Given the description of an element on the screen output the (x, y) to click on. 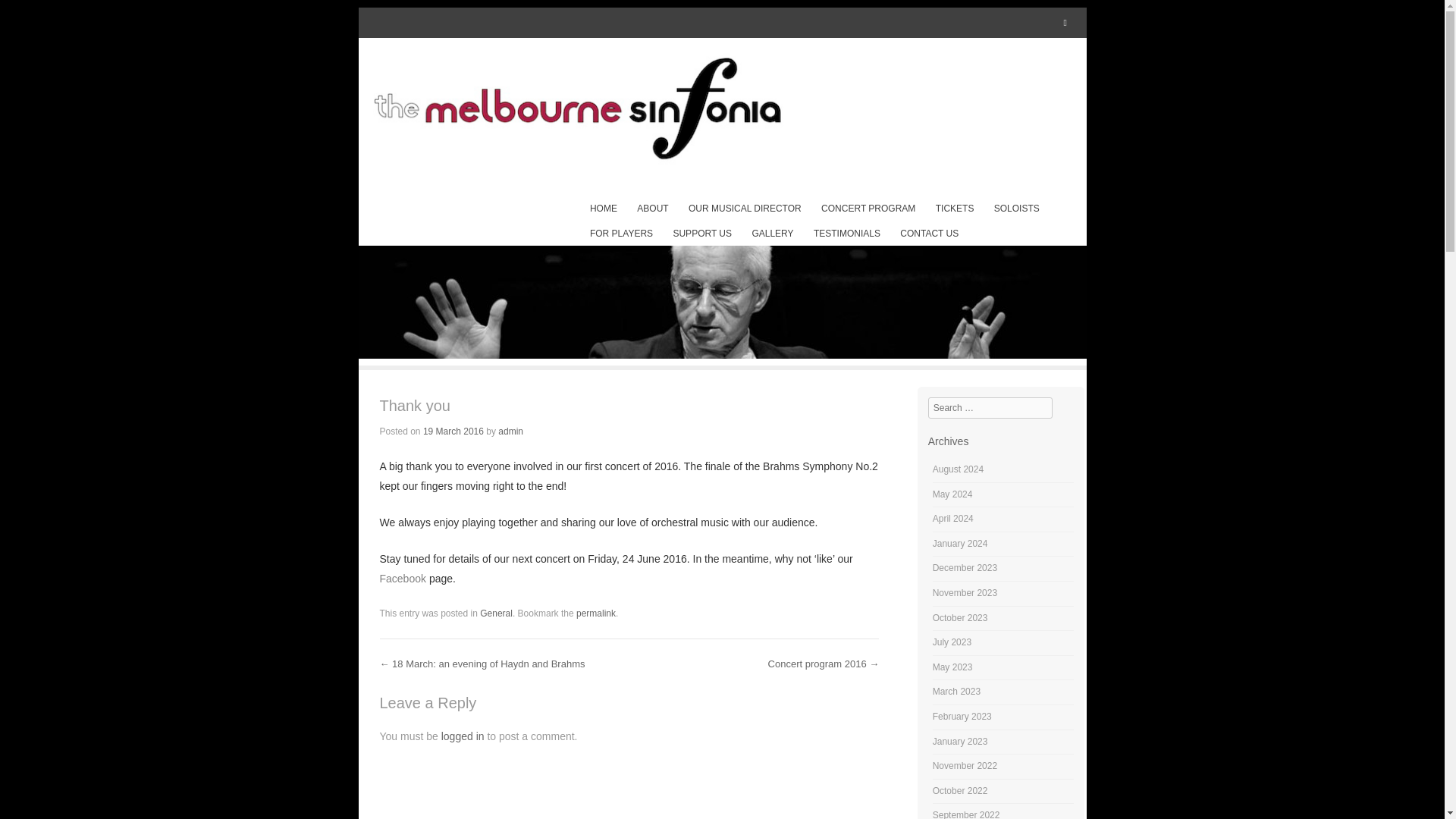
May 2023 (952, 666)
TICKETS (954, 209)
February 2023 (962, 716)
May 2024 (952, 493)
CONTACT US (929, 233)
GALLERY (772, 233)
September 2022 (966, 814)
November 2022 (965, 765)
9:15 pm (453, 430)
January 2023 (960, 741)
January 2024 (960, 543)
TESTIMONIALS (846, 233)
August 2024 (958, 469)
Skip to content (630, 209)
View all posts by admin (509, 430)
